Given the description of an element on the screen output the (x, y) to click on. 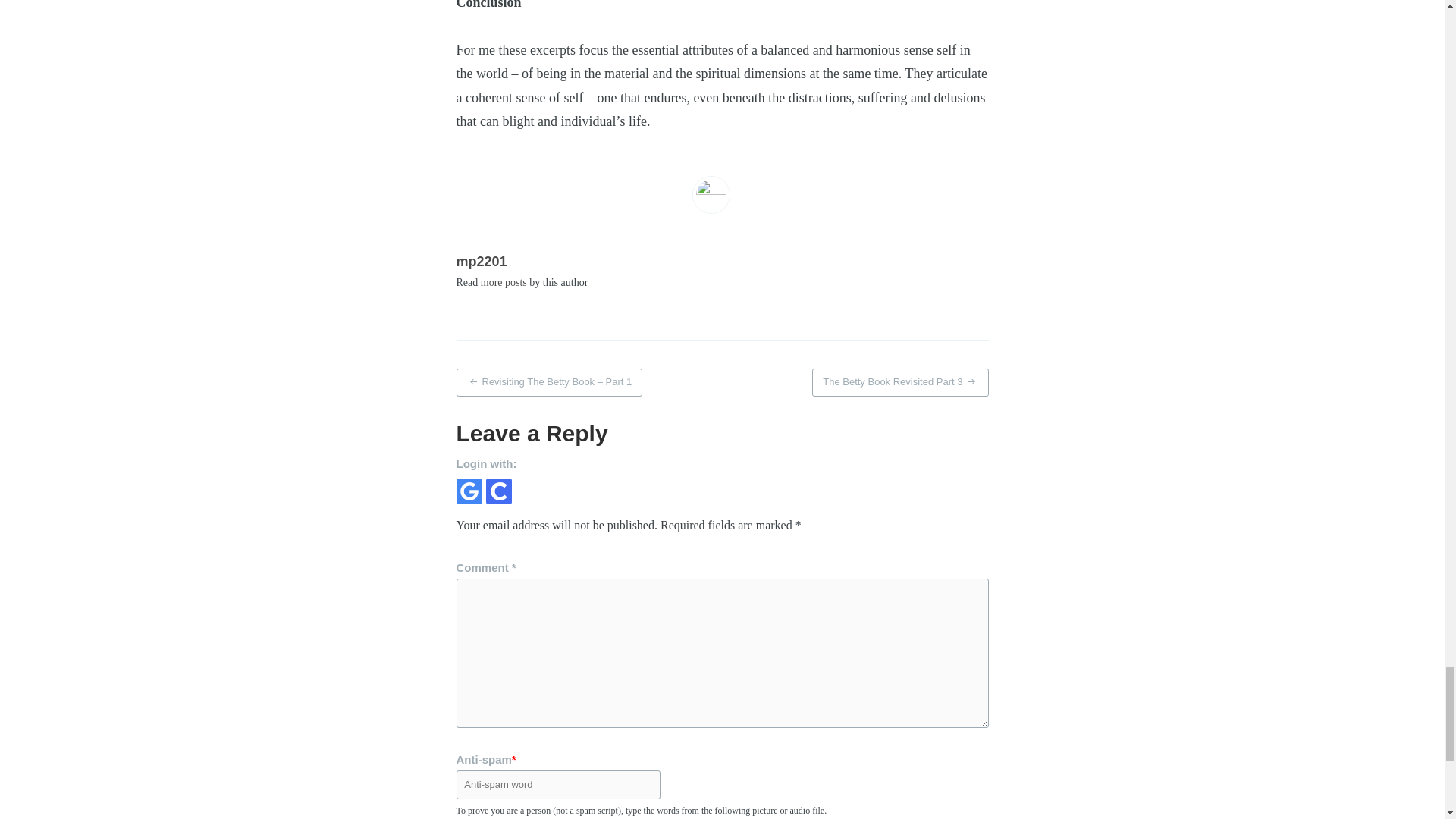
mp2201 (481, 261)
more posts (503, 282)
Continue with Google (469, 491)
The Betty Book Revisited Part 3 (900, 382)
Continue with Clever (497, 491)
